Given the description of an element on the screen output the (x, y) to click on. 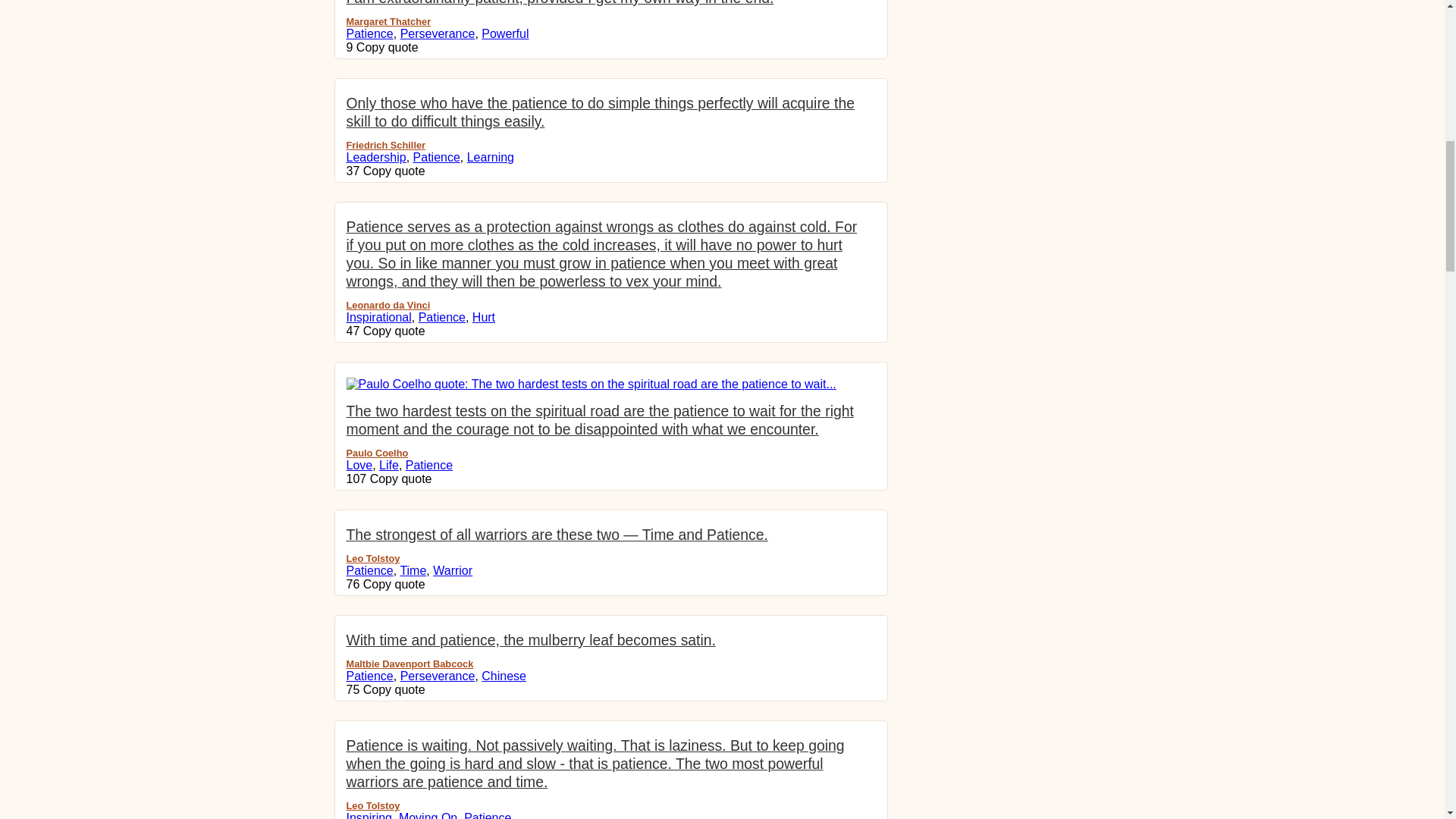
Quote is copied (387, 47)
Quote is copied (393, 689)
Quote is copied (393, 330)
Quote is copied (393, 170)
Quote is copied (393, 584)
Quote is copied (400, 478)
